Given the description of an element on the screen output the (x, y) to click on. 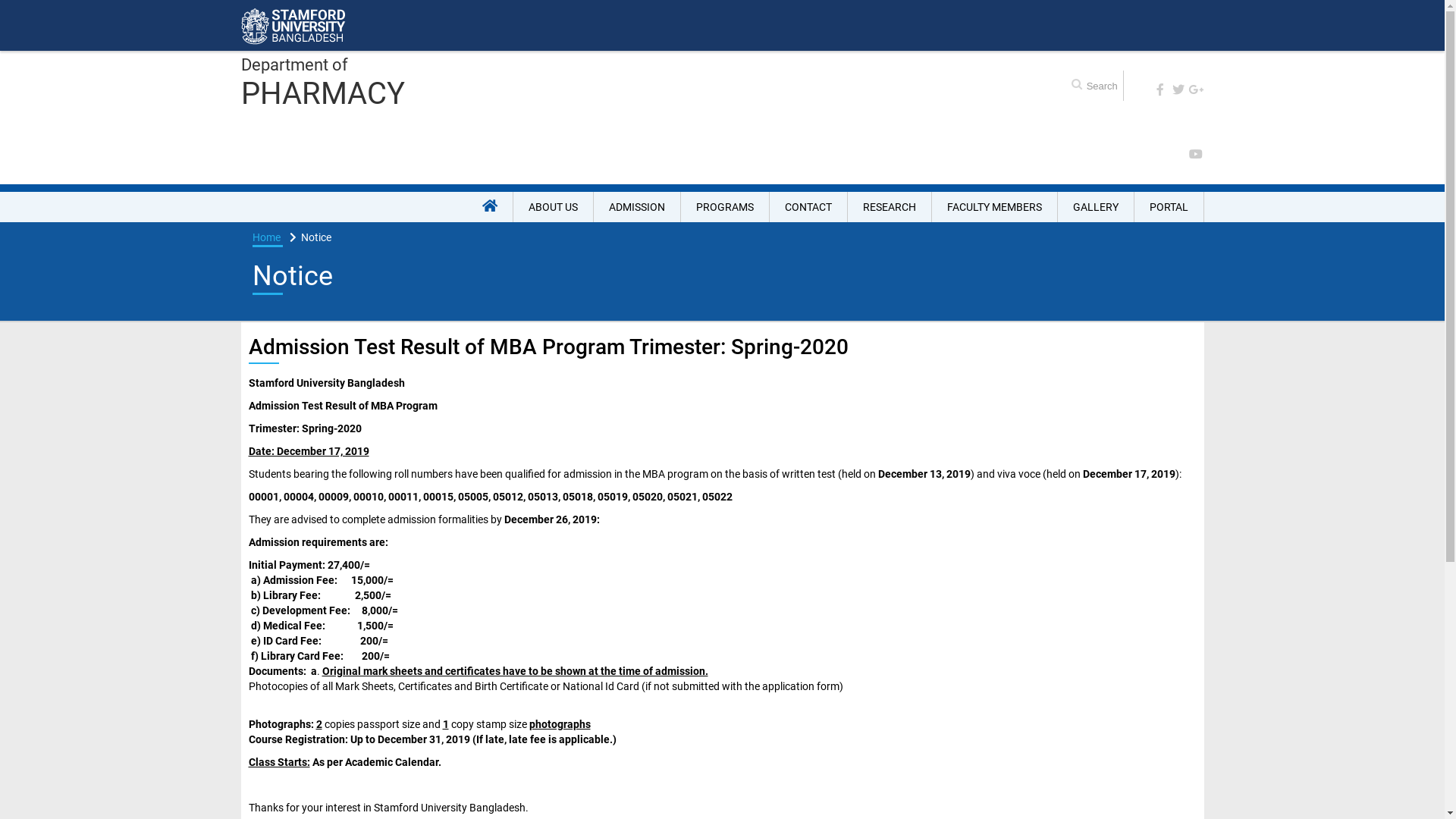
ABOUT US Element type: text (552, 206)
FACULTY MEMBERS Element type: text (994, 206)
CONTACT Element type: text (807, 206)
ADMISSION Element type: text (636, 206)
GALLERY Element type: text (1095, 206)
RESEARCH Element type: text (889, 206)
PROGRAMS Element type: text (724, 206)
PORTAL Element type: text (1169, 206)
